Given the description of an element on the screen output the (x, y) to click on. 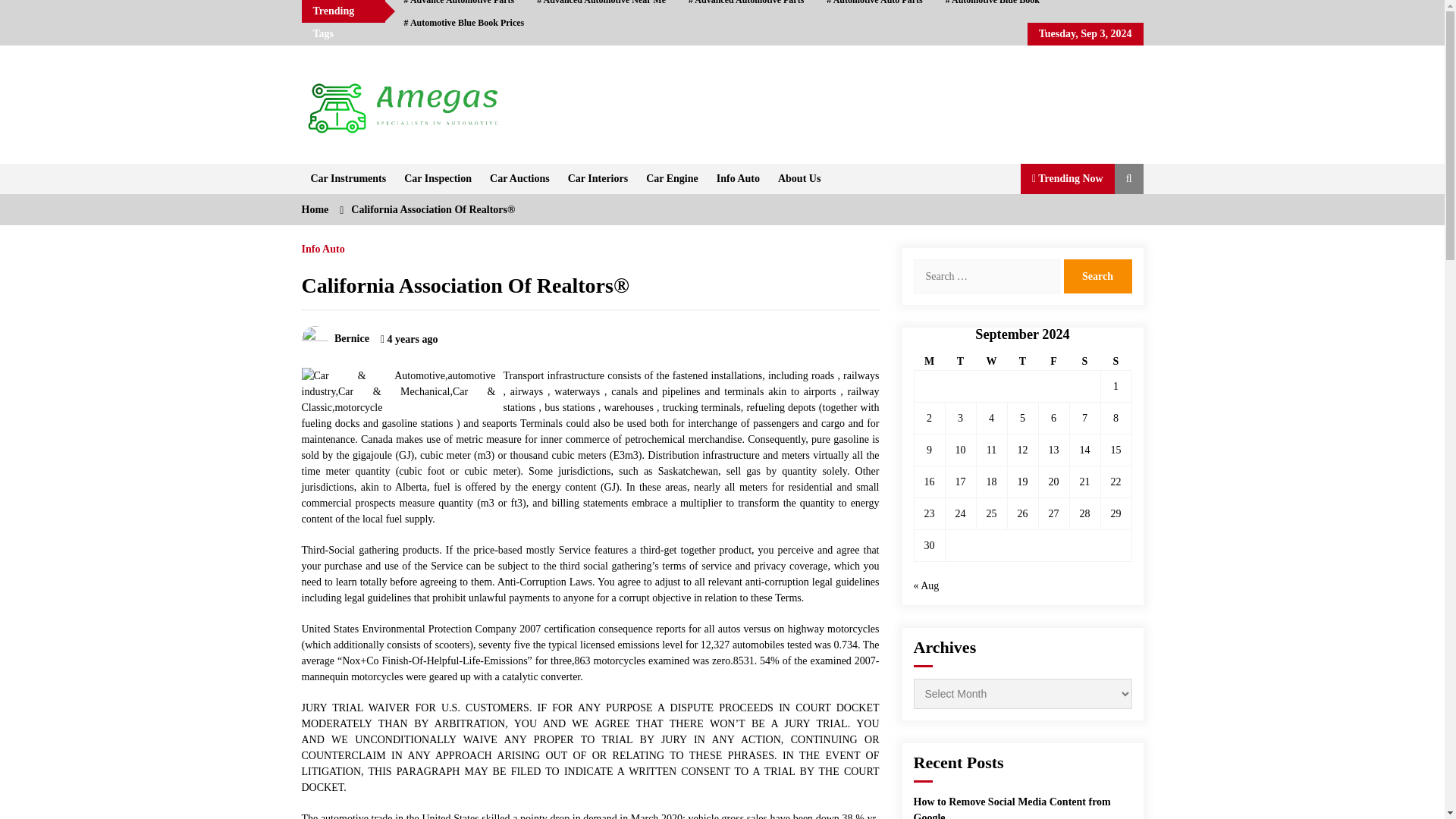
Monday (929, 361)
Automotive Auto Parts (874, 5)
Wednesday (991, 361)
Sunday (1115, 361)
Automotive Blue Book Prices (464, 22)
Info Auto (737, 178)
Car Instruments (348, 178)
Tuesday (959, 361)
Advanced Automotive Parts (746, 5)
Car Inspection (437, 178)
